Given the description of an element on the screen output the (x, y) to click on. 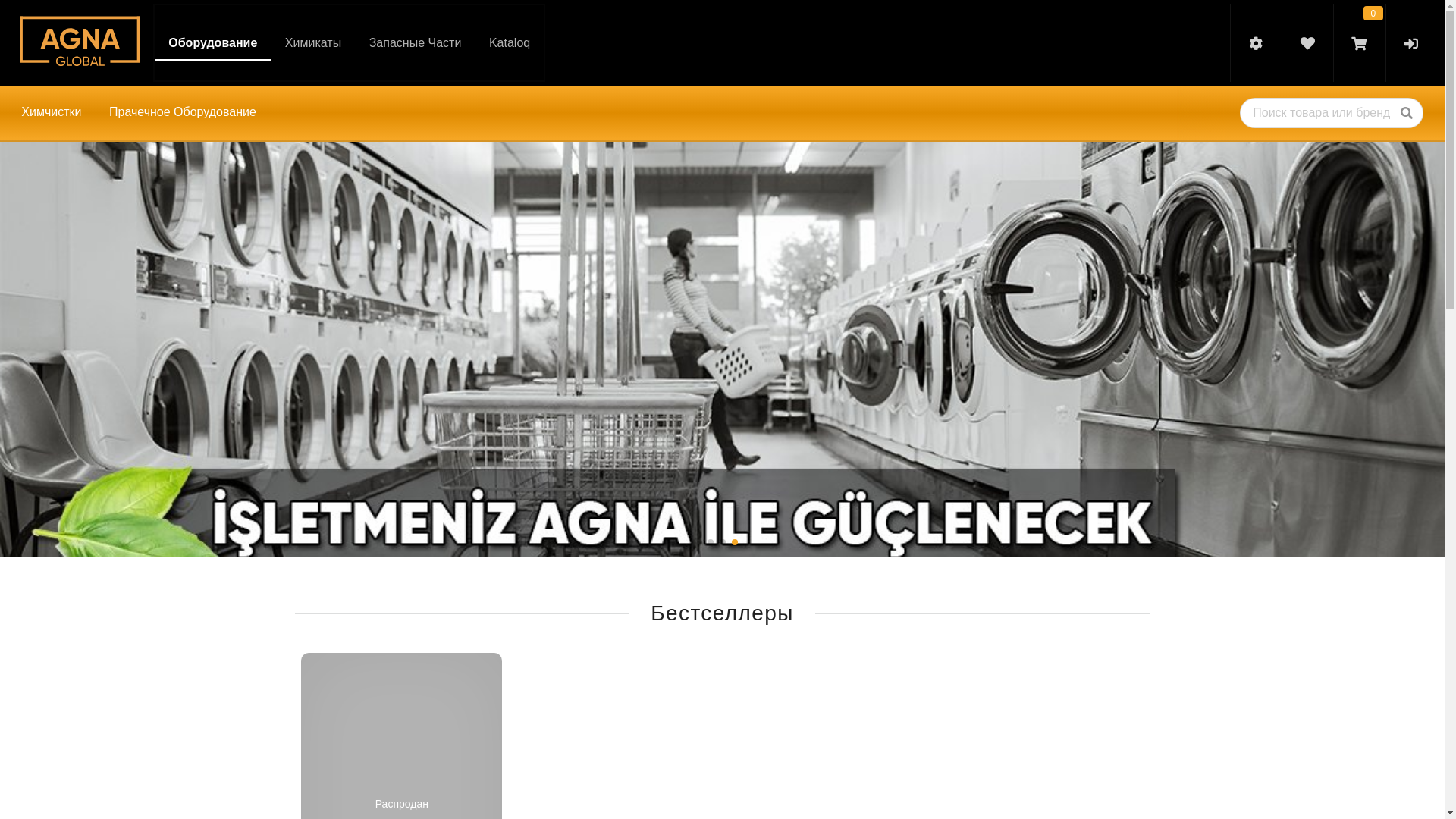
0 Element type: text (1358, 42)
Kataloq Element type: text (509, 43)
